Given the description of an element on the screen output the (x, y) to click on. 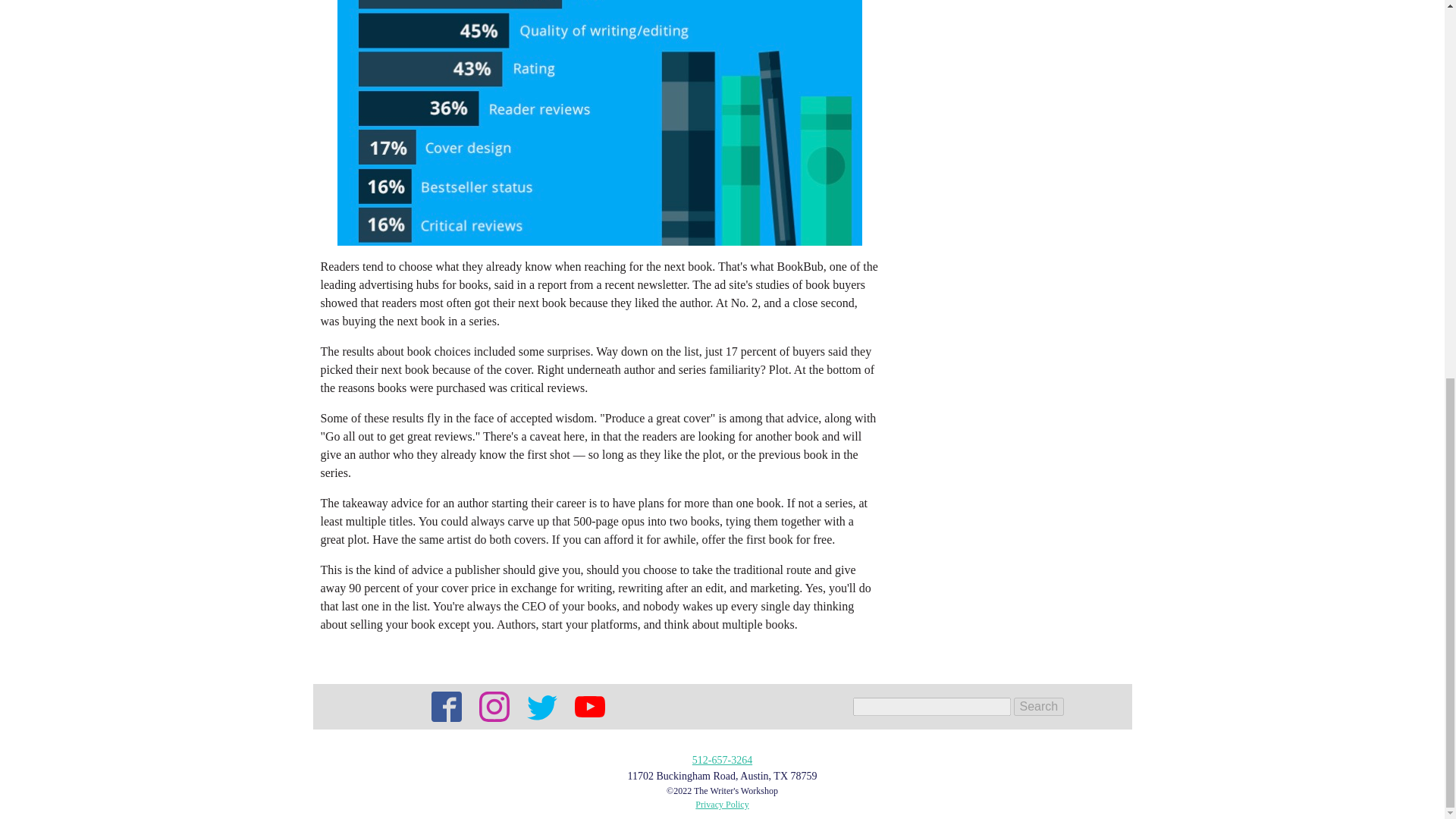
Search (1038, 706)
512-657-3264 (722, 760)
Privacy Policy (721, 804)
Search (1038, 706)
